Given the description of an element on the screen output the (x, y) to click on. 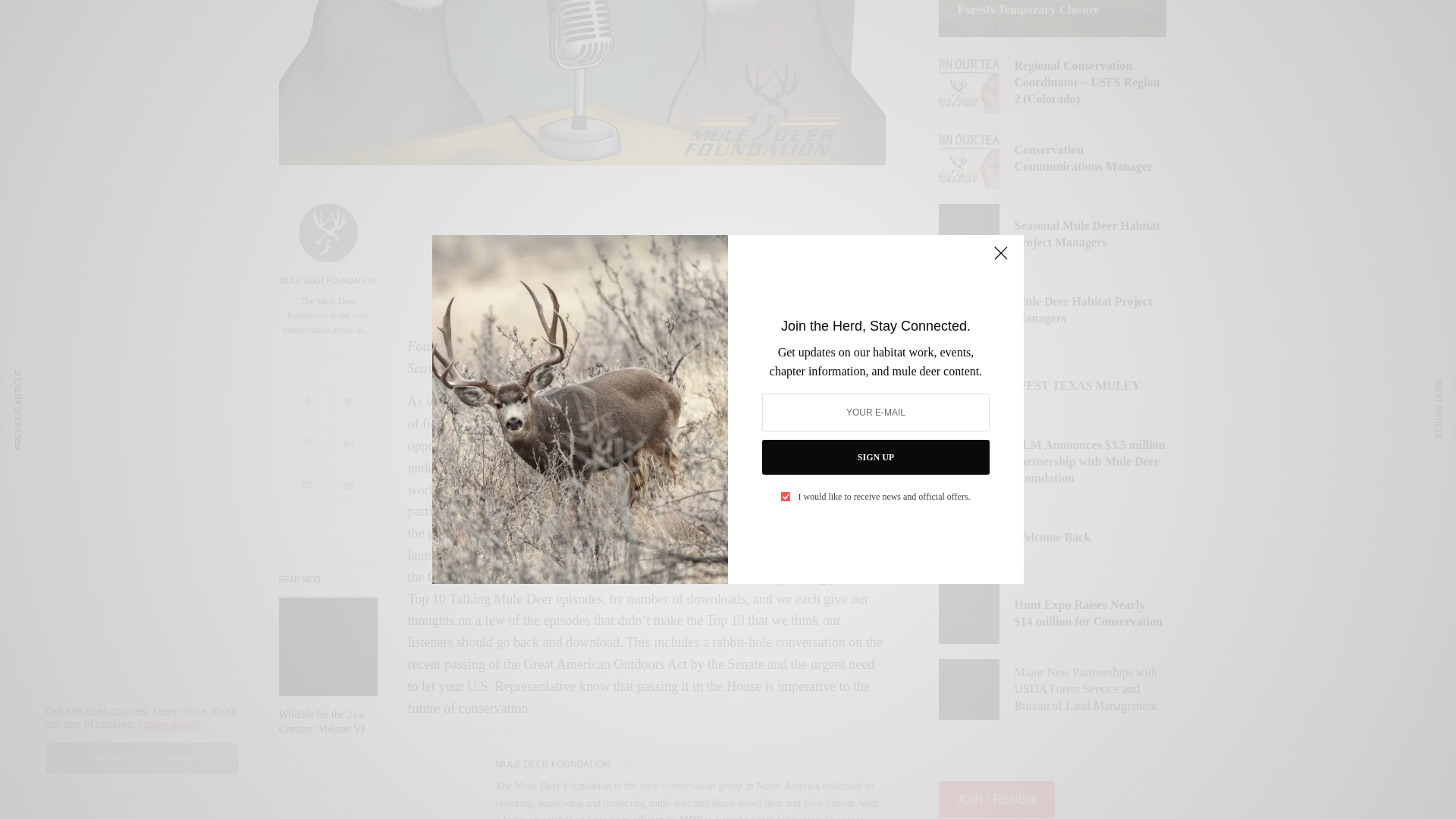
Uinta-Wasatch-Cache National Forests Temporary Closure (1051, 9)
